Given the description of an element on the screen output the (x, y) to click on. 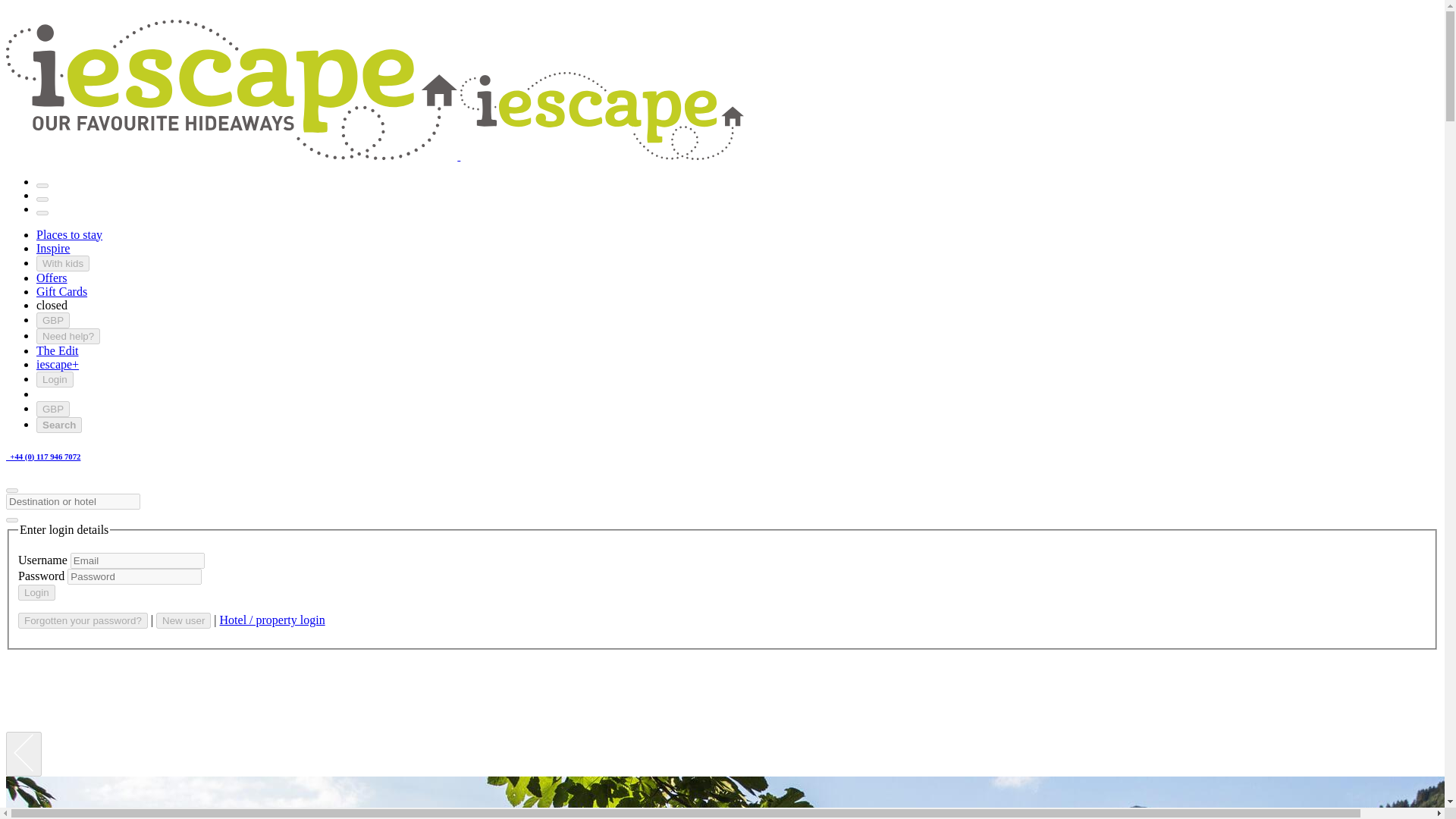
Gift Cards (61, 291)
Login (55, 379)
Choose a currency for displaying prices (52, 408)
Places to stay (68, 234)
Login (36, 592)
With kids (62, 263)
The Edit (57, 350)
Search (58, 424)
GBP (52, 408)
GBP (52, 320)
Offers (51, 277)
Forgotten your password? (82, 620)
Need help? (68, 335)
Inspire (52, 247)
New user (183, 620)
